Given the description of an element on the screen output the (x, y) to click on. 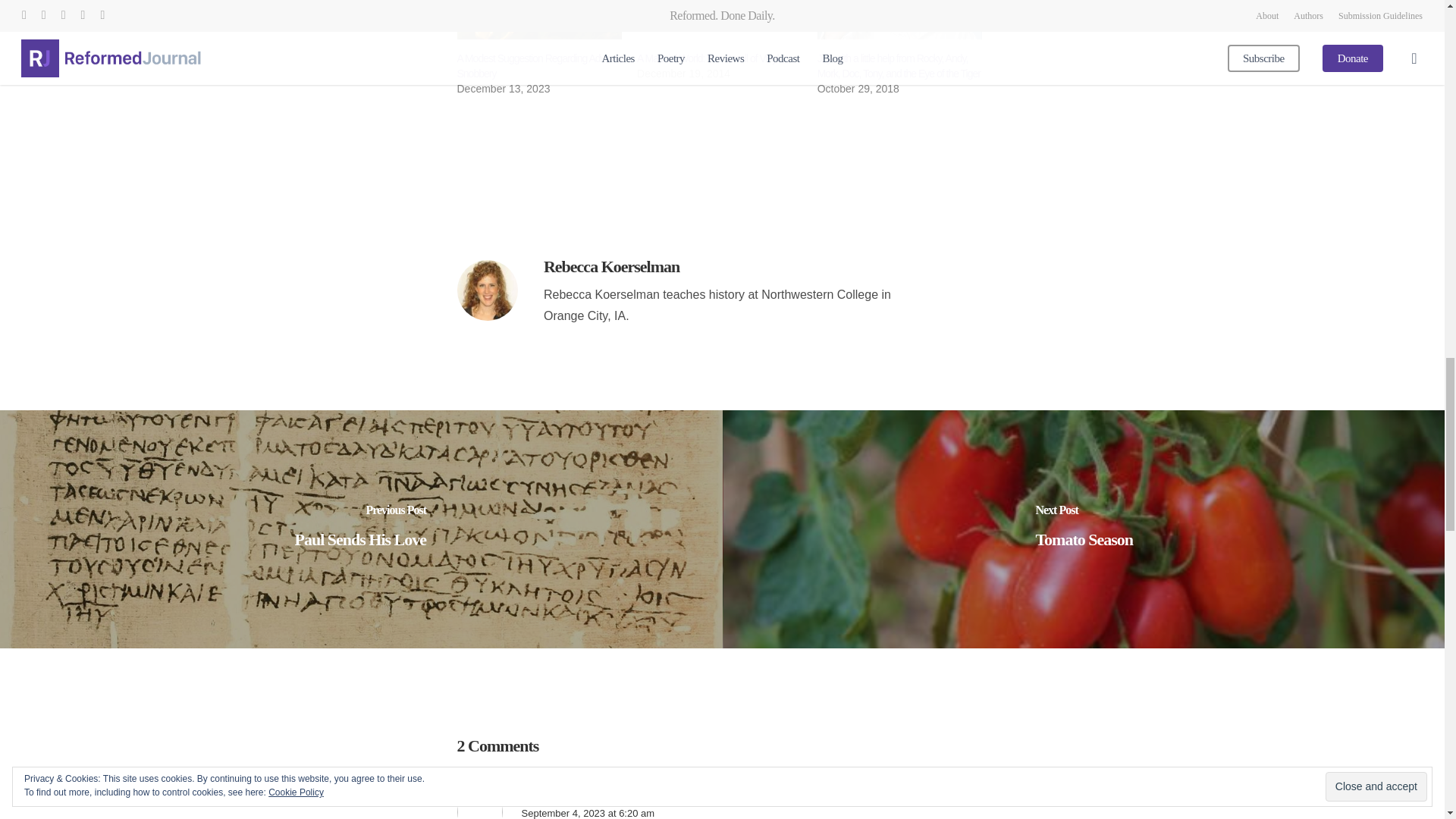
A Material World: The Smell of Vinyl (707, 58)
A Material World: The Smell of Vinyl (707, 58)
A Modest Suggestion Regarding Advent Snobbery (539, 19)
September 4, 2023 at 6:20 am (588, 813)
A Modest Suggestion Regarding Advent Snobbery (537, 65)
A Modest Suggestion Regarding Advent Snobbery (537, 65)
Rebecca Koerselman (611, 266)
A Material World: The Smell of Vinyl (719, 19)
